Given the description of an element on the screen output the (x, y) to click on. 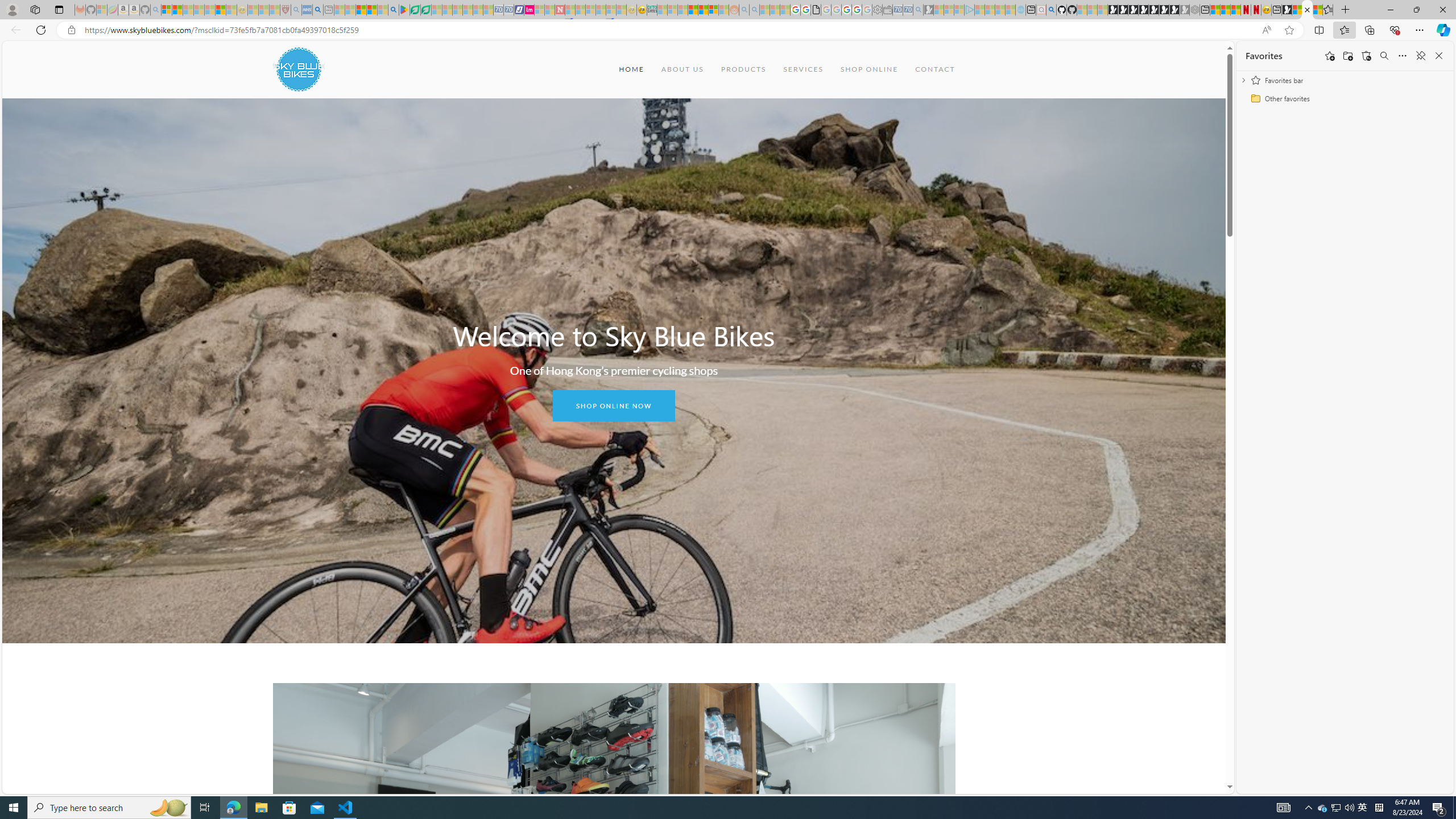
SHOP ONLINE NOW (613, 405)
CONTACT (935, 68)
Cheap Hotels - Save70.com - Sleeping (508, 9)
Microsoft account | Privacy - Sleeping (959, 9)
Home | Sky Blue Bikes - Sky Blue Bikes (1307, 9)
Home | Sky Blue Bikes - Sky Blue Bikes - Sleeping (1020, 9)
Cheap Car Rentals - Save70.com - Sleeping (907, 9)
Trusted Community Engagement and Contributions | Guidelines (569, 9)
Search favorites (1383, 55)
